Given the description of an element on the screen output the (x, y) to click on. 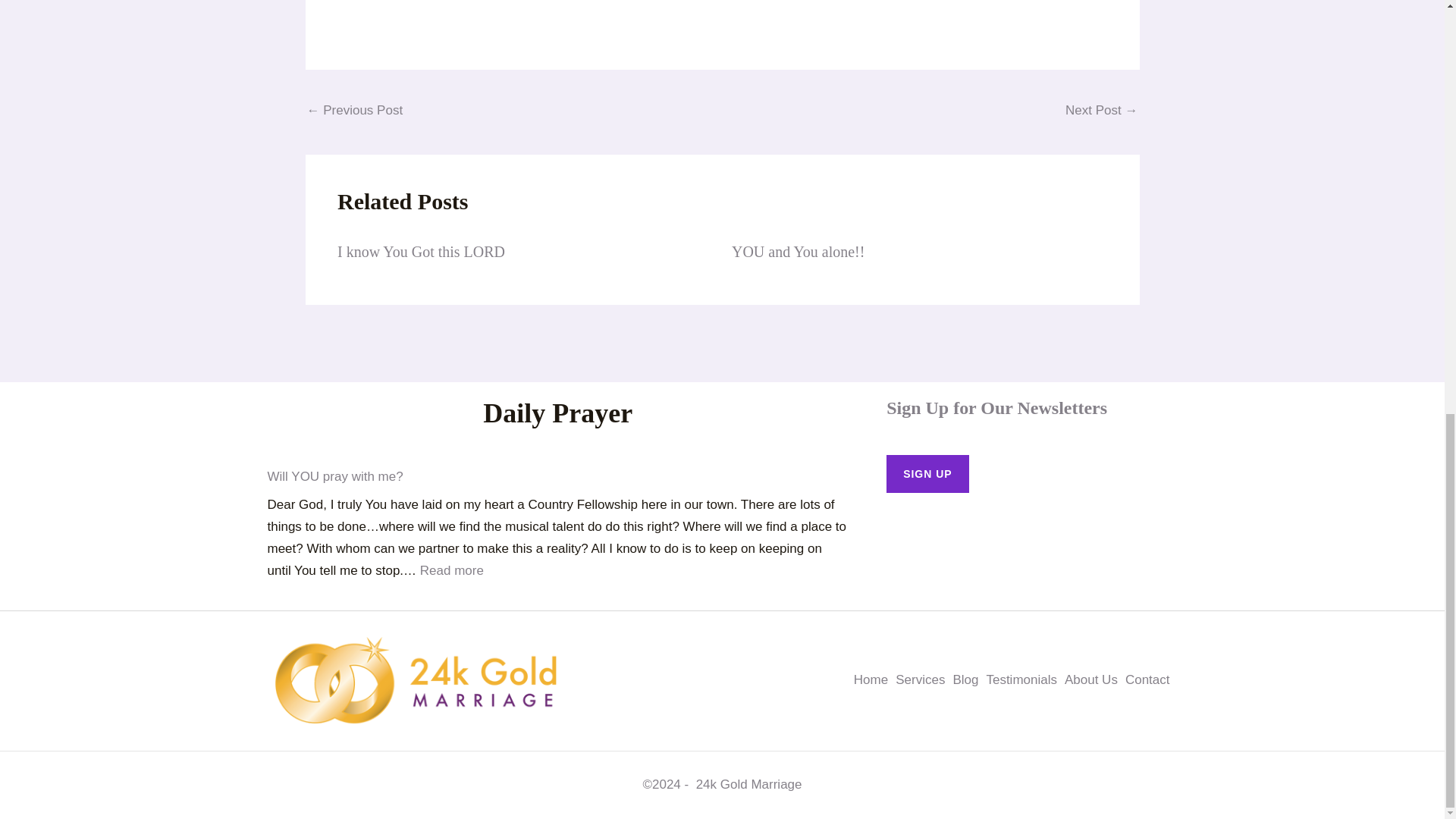
I earnestly want to please You! (354, 112)
Staying in love after the new wears off (1101, 112)
I know You Got this LORD (421, 251)
